Given the description of an element on the screen output the (x, y) to click on. 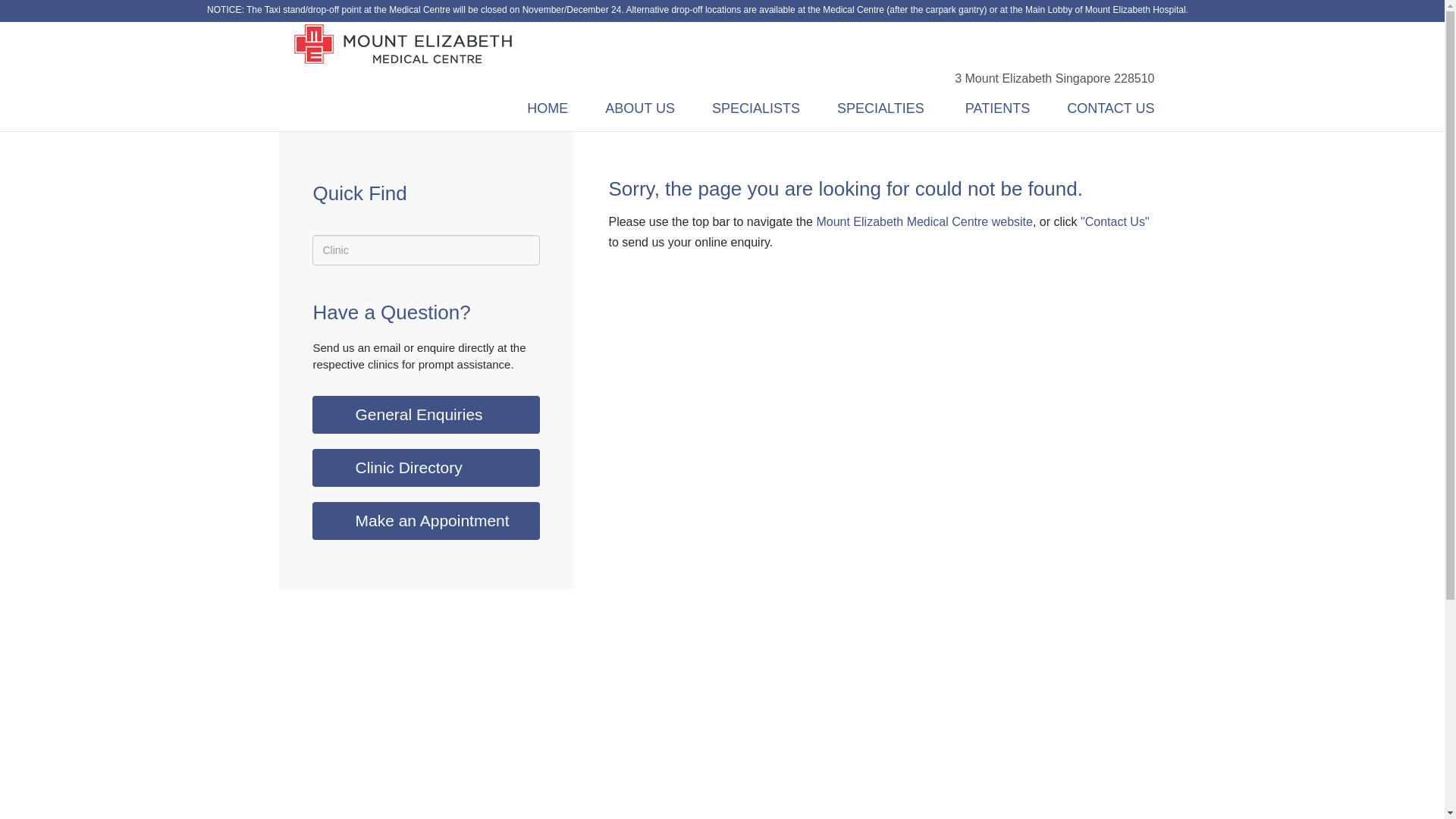
"Contact Us" (1115, 221)
SPECIALISTS (750, 108)
3 Mount Elizabeth Singapore 228510 (1046, 78)
Mount Elizabeth Medical Centre website (923, 221)
Make an Appointment (426, 520)
PATIENTS (989, 108)
CONTACT US (1102, 108)
SPECIALTIES (875, 108)
Clinic Directory (426, 467)
